Given the description of an element on the screen output the (x, y) to click on. 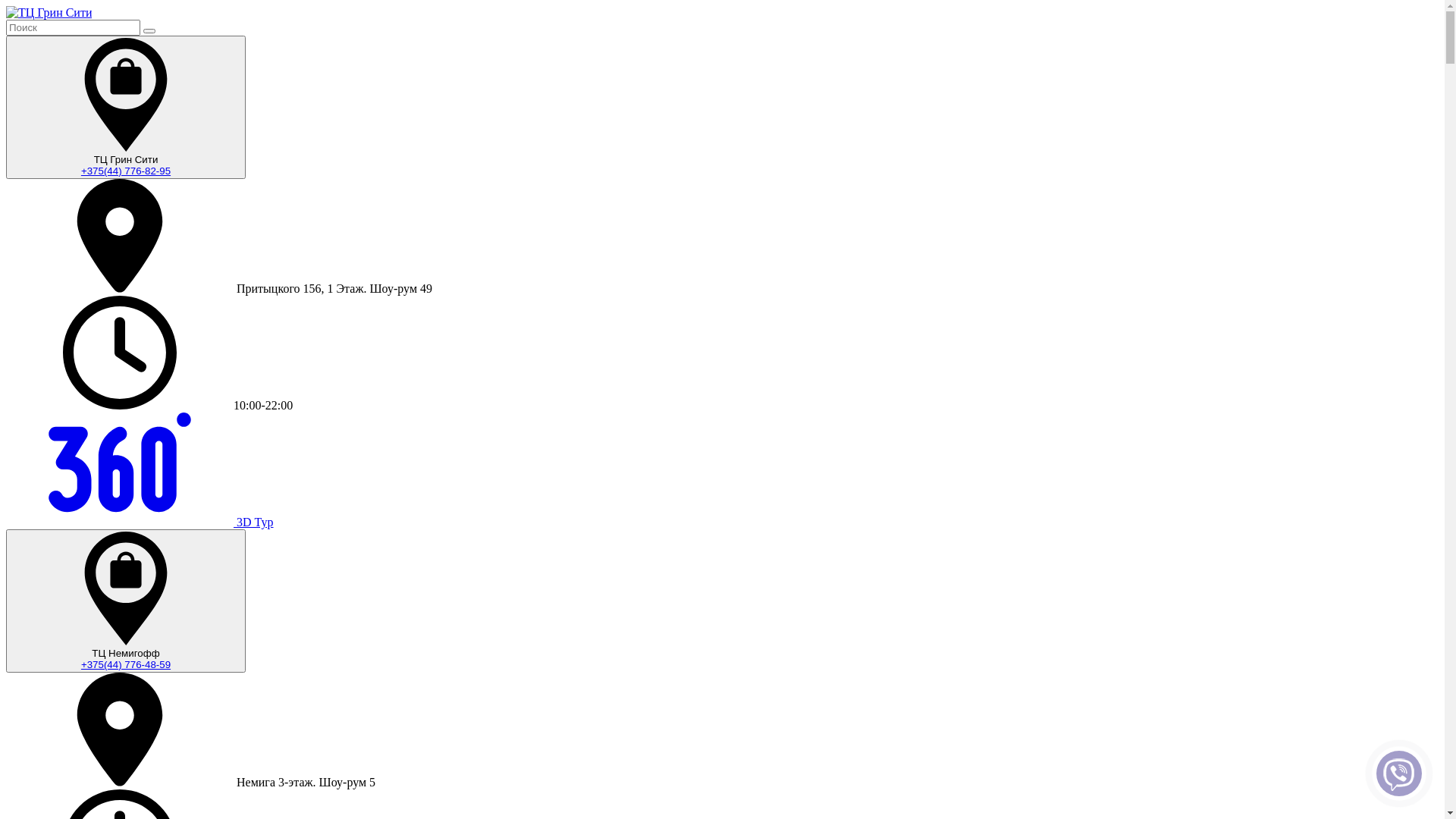
+375(44) 776-48-59 Element type: text (125, 664)
+375(44) 776-82-95 Element type: text (125, 170)
